Given the description of an element on the screen output the (x, y) to click on. 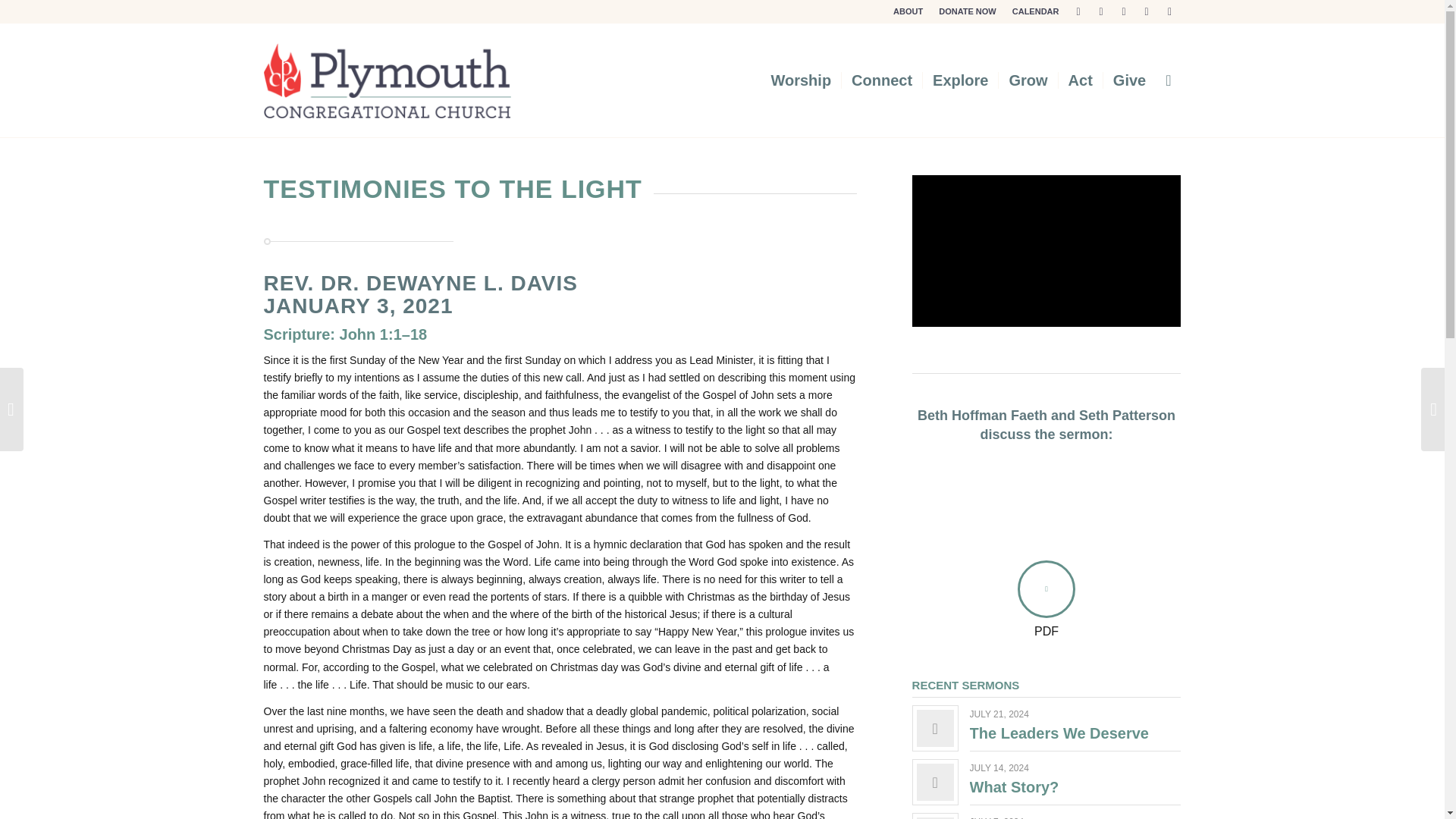
Facebook (1101, 11)
Vimeo (1169, 11)
The Leaders We Deserve (1058, 733)
Link to: The Leaders We Deserve (935, 728)
Link to: What Story? (1014, 786)
Link to: What Story? (935, 781)
DONATE NOW (967, 11)
CALENDAR (1035, 11)
Instagram (1124, 11)
Welcome the New (1046, 499)
ABOUT (908, 11)
Youtube (1146, 11)
Link to: Communal Grief (935, 818)
What Story? (1014, 786)
Link to: The Leaders We Deserve (1058, 733)
